Given the description of an element on the screen output the (x, y) to click on. 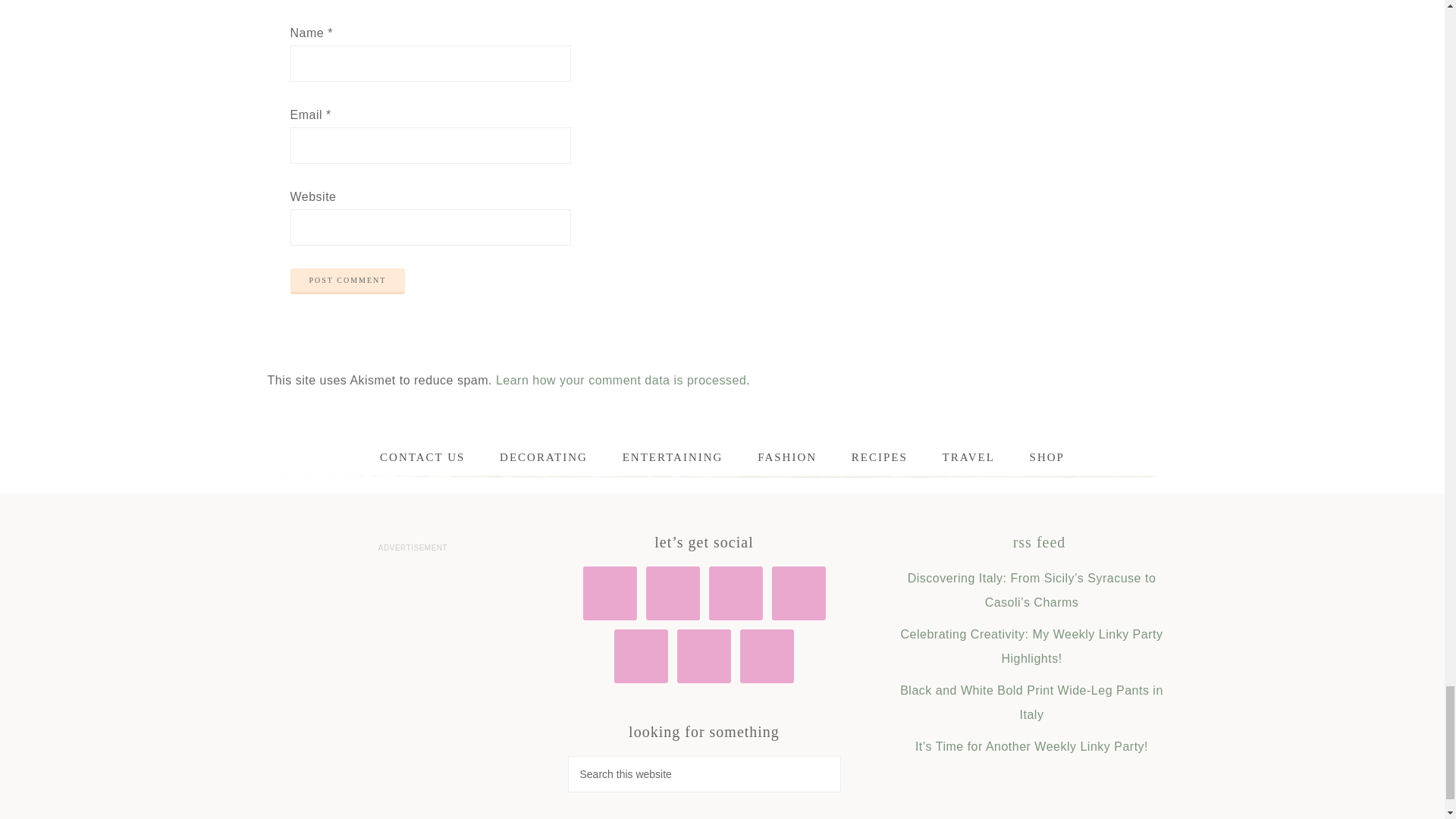
Post Comment (346, 281)
